Given the description of an element on the screen output the (x, y) to click on. 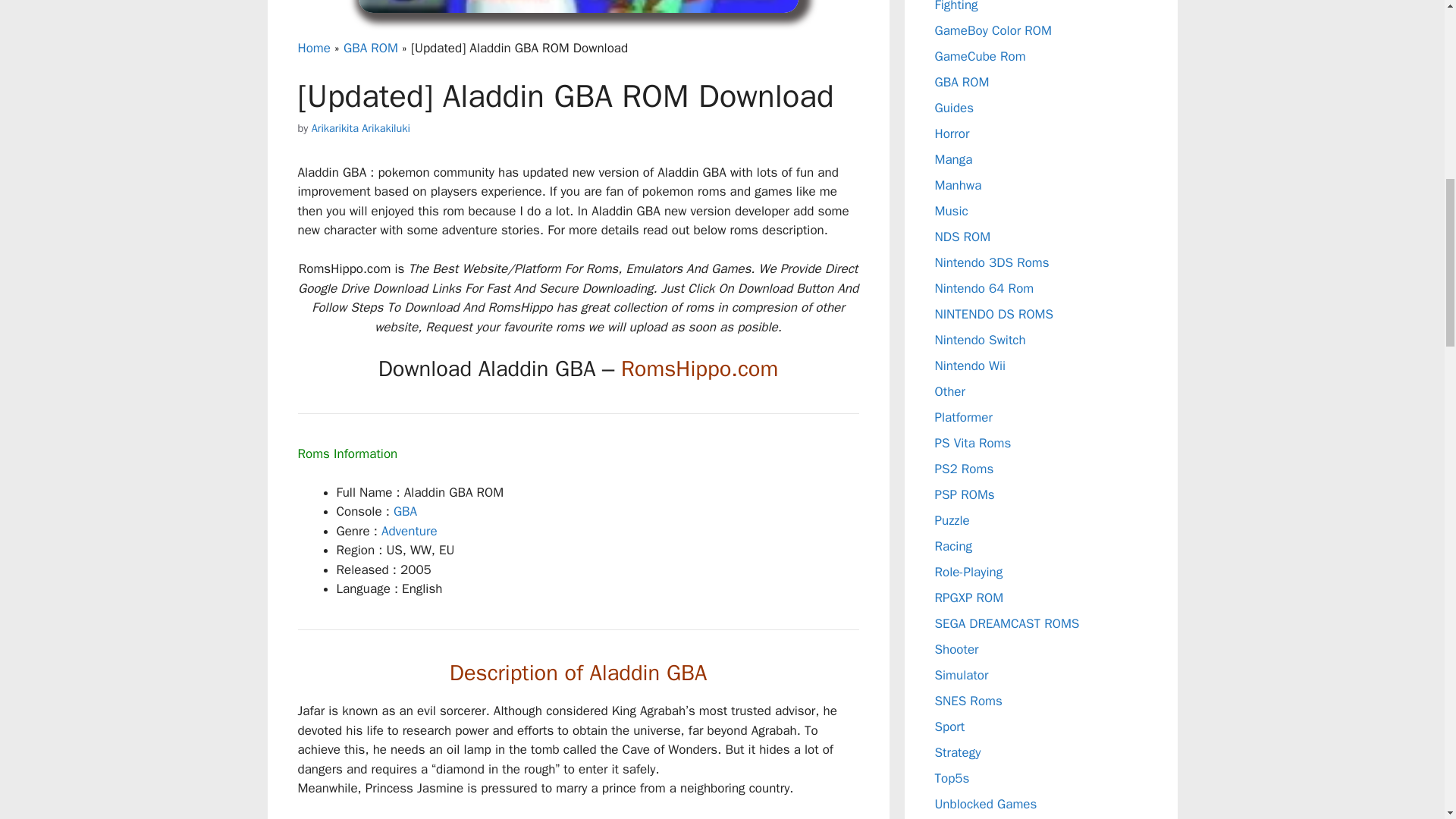
View all posts by Arikarikita Arikakiluki (360, 128)
Scroll back to top (1406, 720)
